Given the description of an element on the screen output the (x, y) to click on. 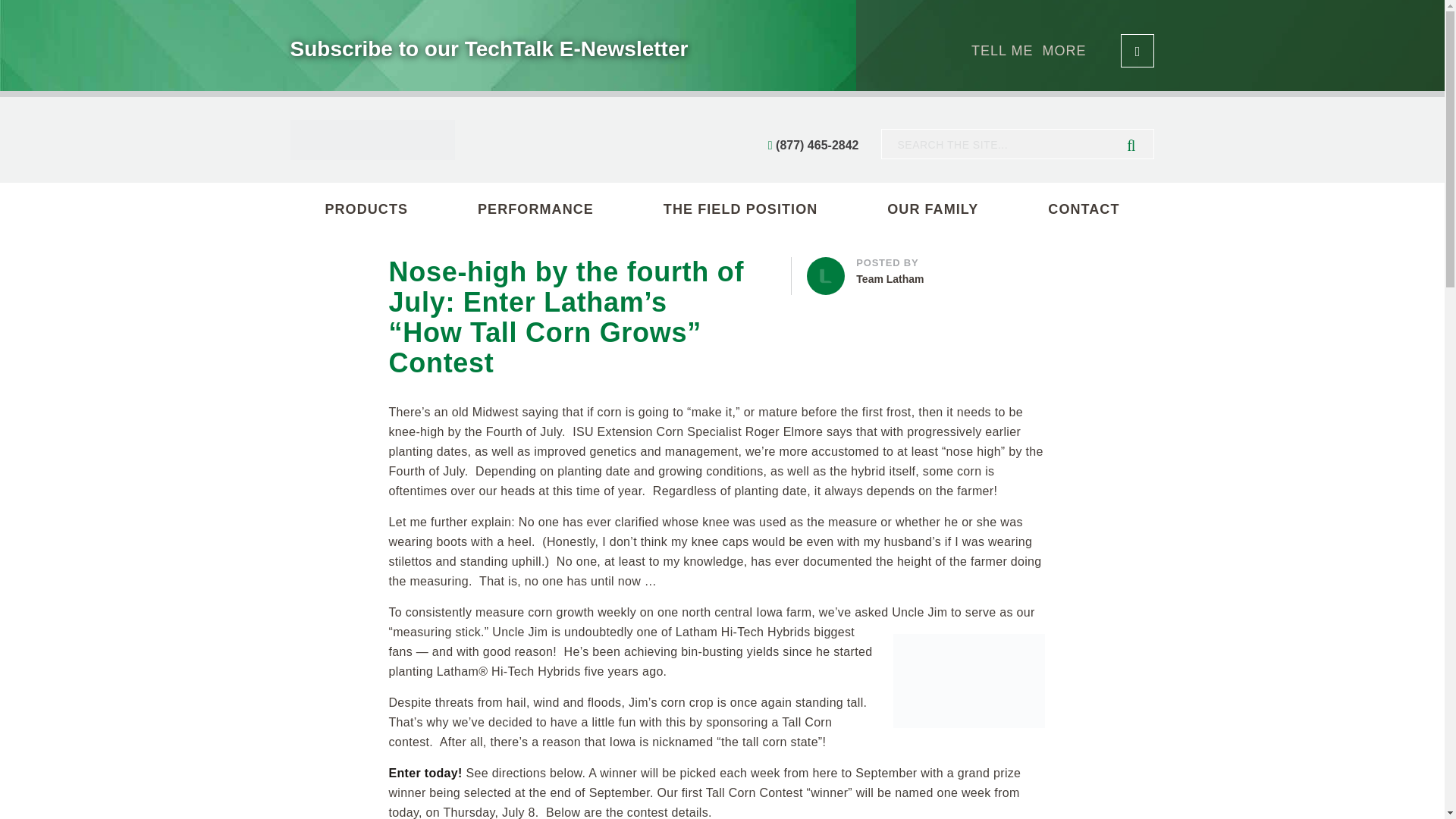
PRODUCTS (365, 209)
THE FIELD POSITION (739, 209)
TELL ME  MORE (1062, 50)
CONTACT (1083, 209)
PERFORMANCE (930, 271)
OUR FAMILY (535, 209)
